Given the description of an element on the screen output the (x, y) to click on. 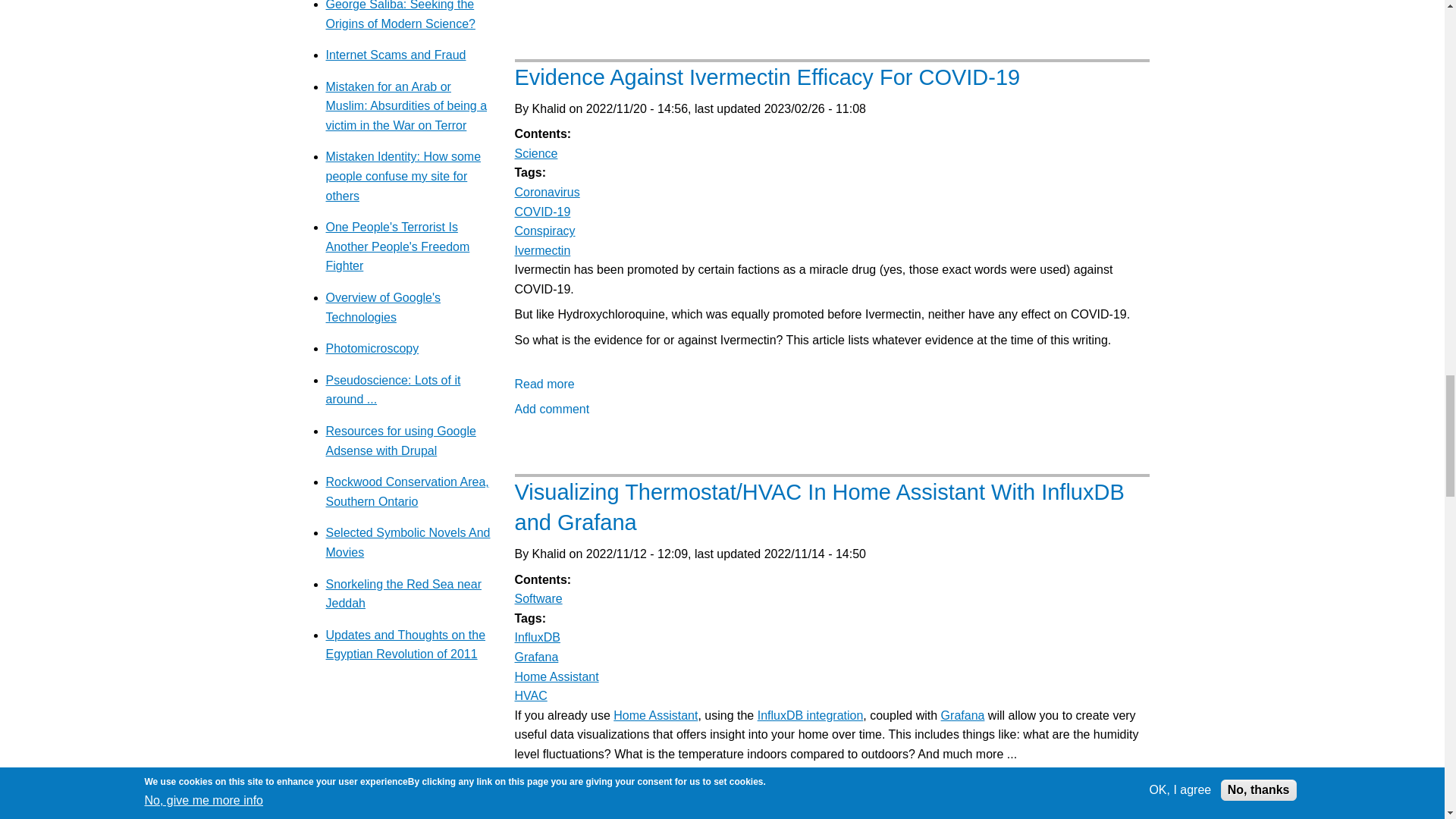
Evidence Against Ivermectin Efficacy For COVID-19 (543, 383)
Add a new comment to this page. (551, 408)
